Given the description of an element on the screen output the (x, y) to click on. 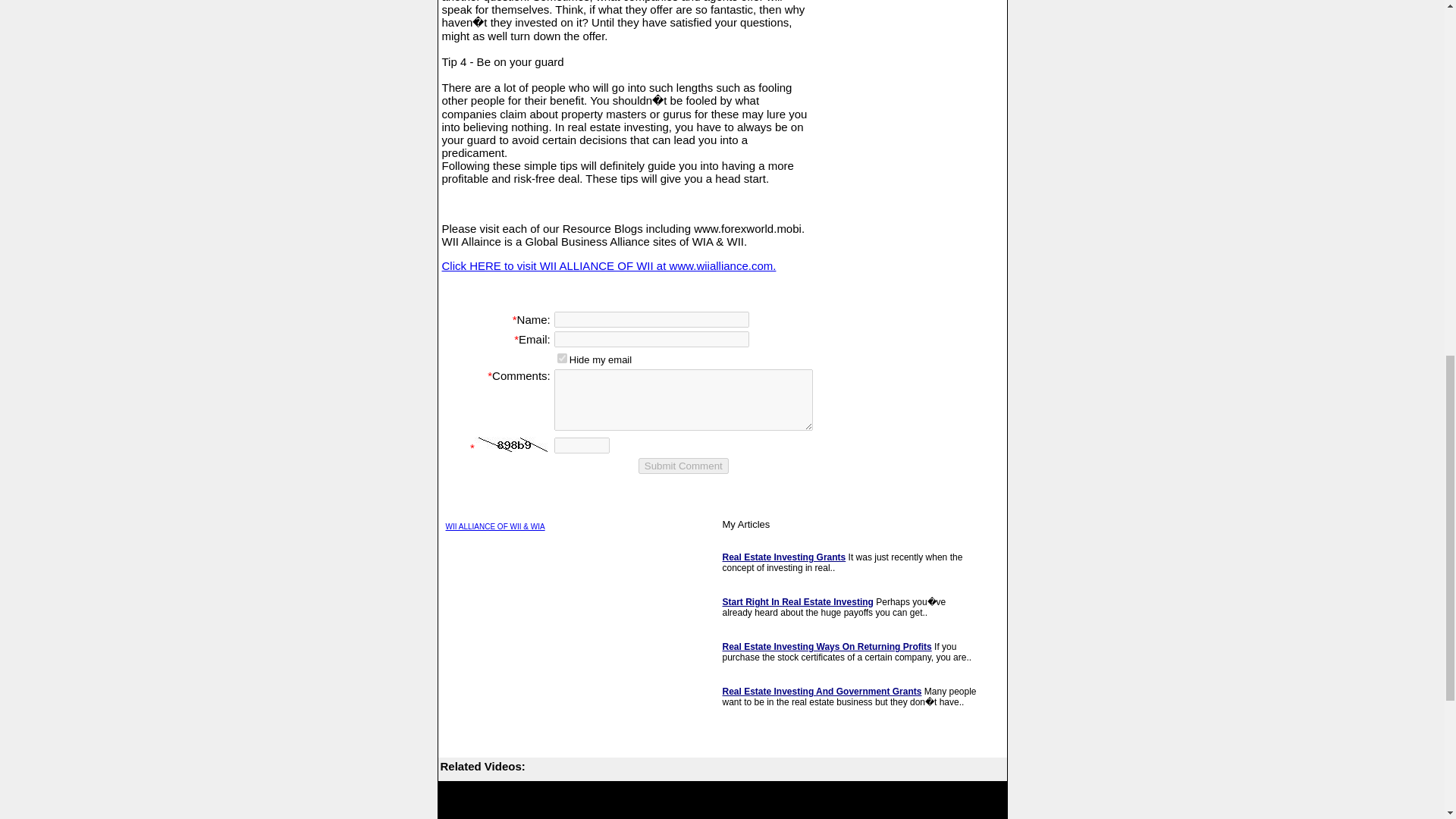
Start Right In Real Estate Investing (797, 602)
Submit Comment (684, 465)
Real Estate Investing Grants (783, 557)
Submit Comment (684, 465)
Real Estate Investing And Government Grants (821, 691)
on (562, 357)
Real Estate Investing Ways On Returning Profits (826, 646)
